Given the description of an element on the screen output the (x, y) to click on. 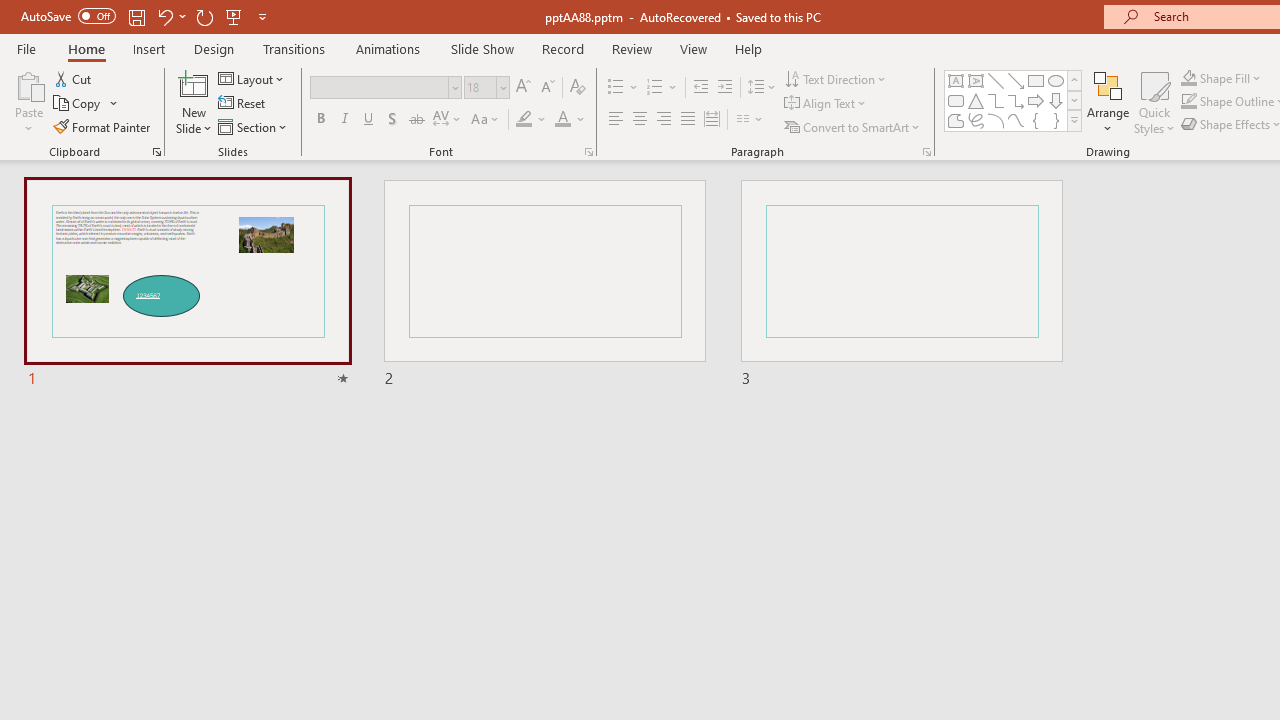
Class: NetUIImage (1075, 120)
Freeform: Shape (955, 120)
Arrange (1108, 102)
Open (502, 87)
Copy (78, 103)
Center (639, 119)
Arrow: Down (1055, 100)
Connector: Elbow (995, 100)
Text Highlight Color (531, 119)
Oval (1055, 80)
Vertical Text Box (975, 80)
Decrease Indent (700, 87)
Character Spacing (447, 119)
